Given the description of an element on the screen output the (x, y) to click on. 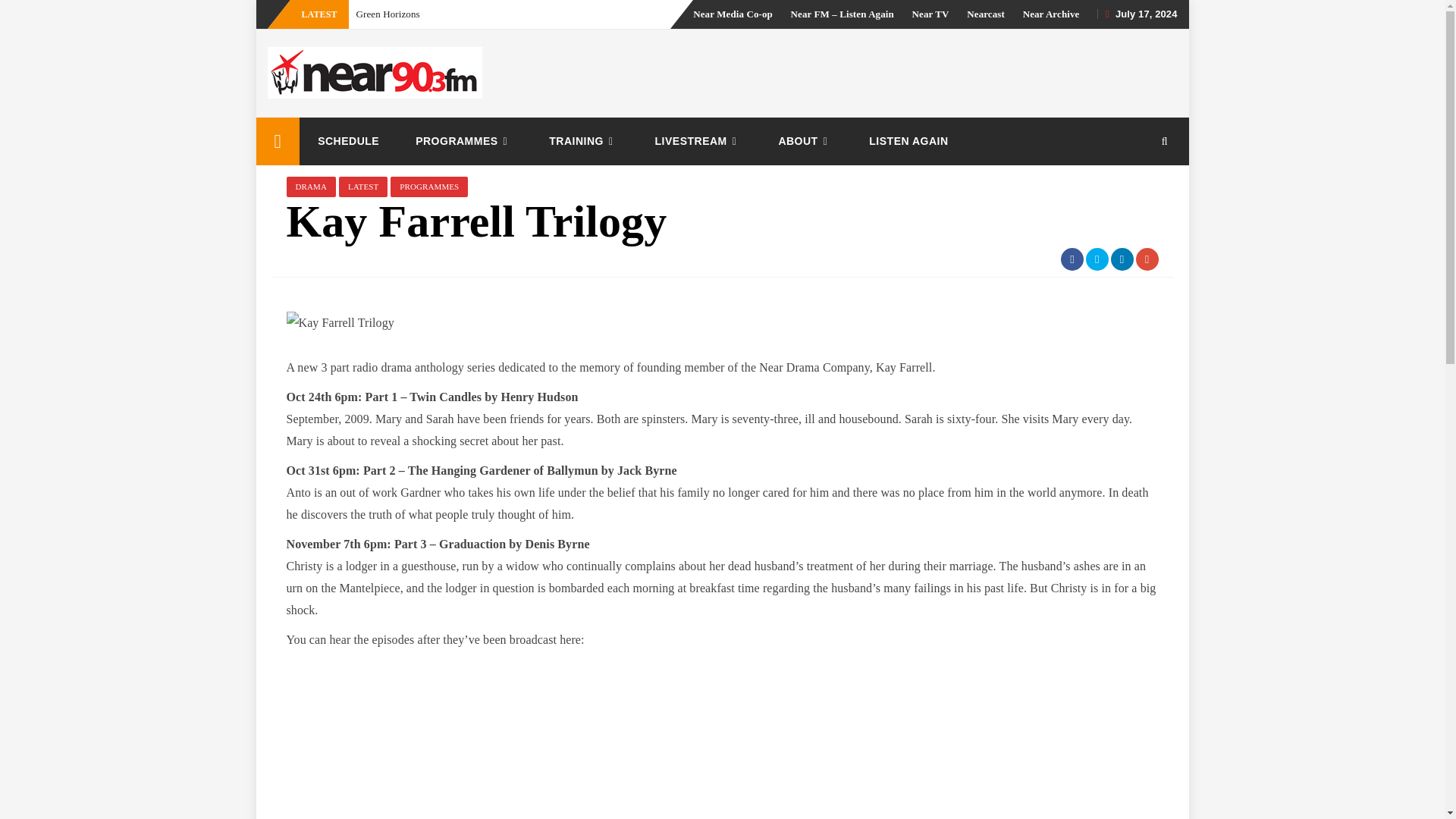
Green Horizons (388, 13)
Nearcast (985, 13)
Near Archive (1051, 13)
Near FM (277, 141)
TRAINING (583, 141)
ABOUT (805, 141)
Near Media Co-op (733, 13)
Near TV (930, 13)
SCHEDULE (348, 140)
PROGRAMMES (464, 141)
LIVESTREAM (698, 141)
